Given the description of an element on the screen output the (x, y) to click on. 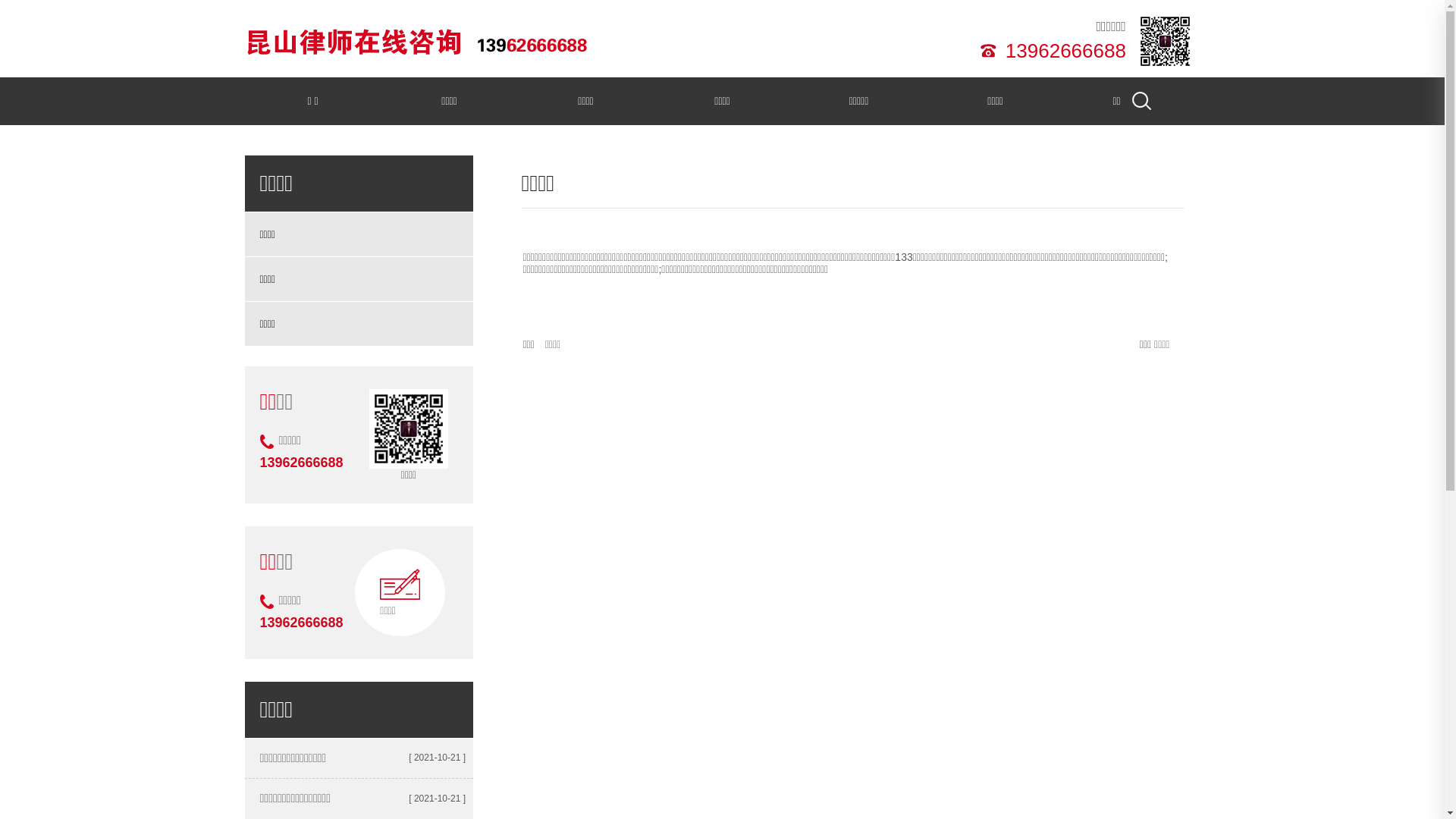
13962666688 Element type: text (1062, 49)
